Given the description of an element on the screen output the (x, y) to click on. 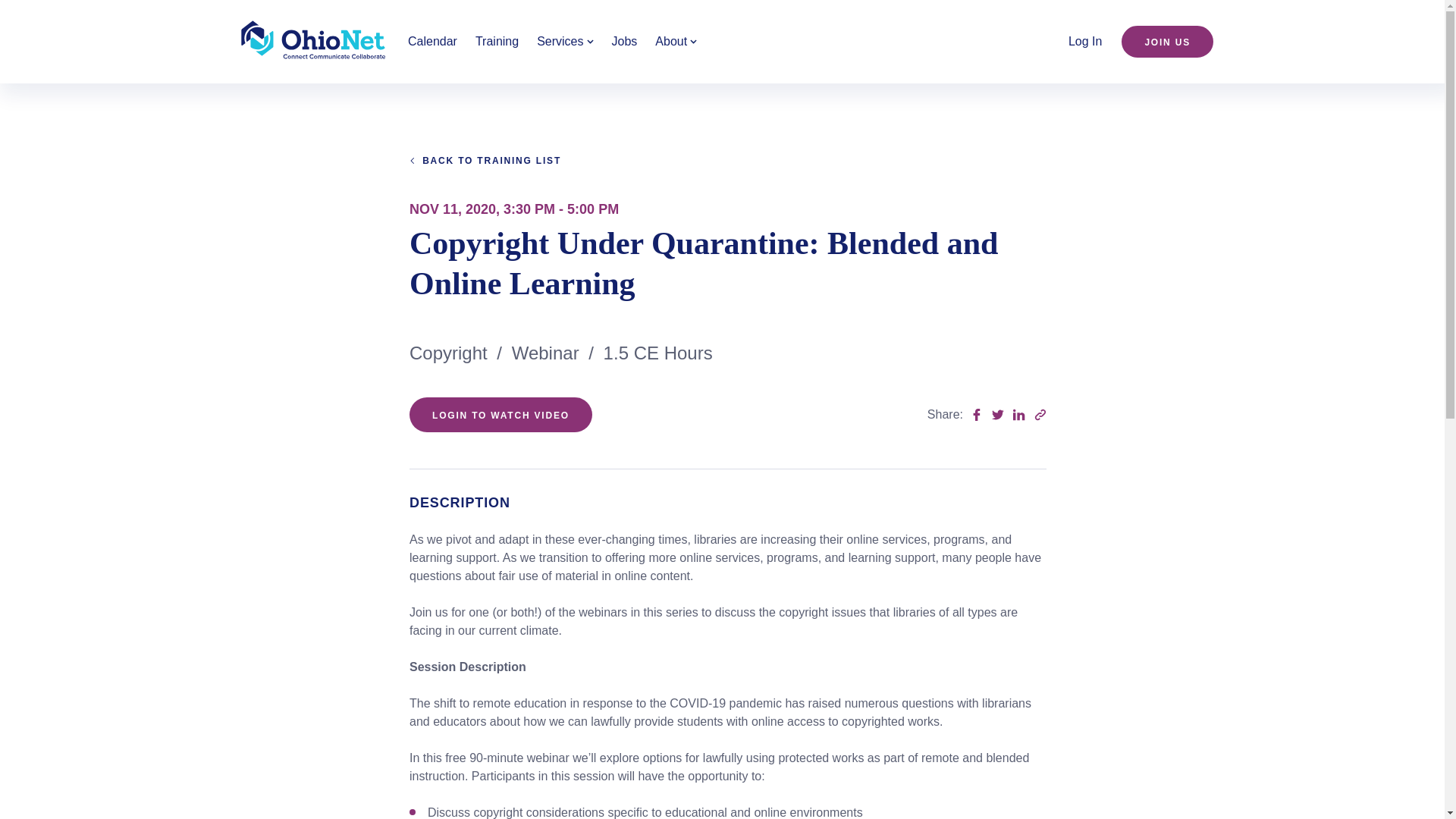
Training (496, 41)
FACEBOOK (976, 414)
LOGIN TO WATCH VIDEO (500, 414)
Jobs (624, 41)
Copy to clipboard (1039, 414)
BACK TO TRAINING LIST (484, 160)
TWITTER (997, 414)
Log In (1085, 41)
LINKEDIN (1019, 414)
Calendar (431, 41)
Services (564, 41)
OhioNET - Connect, Communicate, Collaborate. (314, 39)
OhioNET - Connect, Communicate, Collaborate. (314, 41)
About (676, 41)
JOIN US (1166, 41)
